Given the description of an element on the screen output the (x, y) to click on. 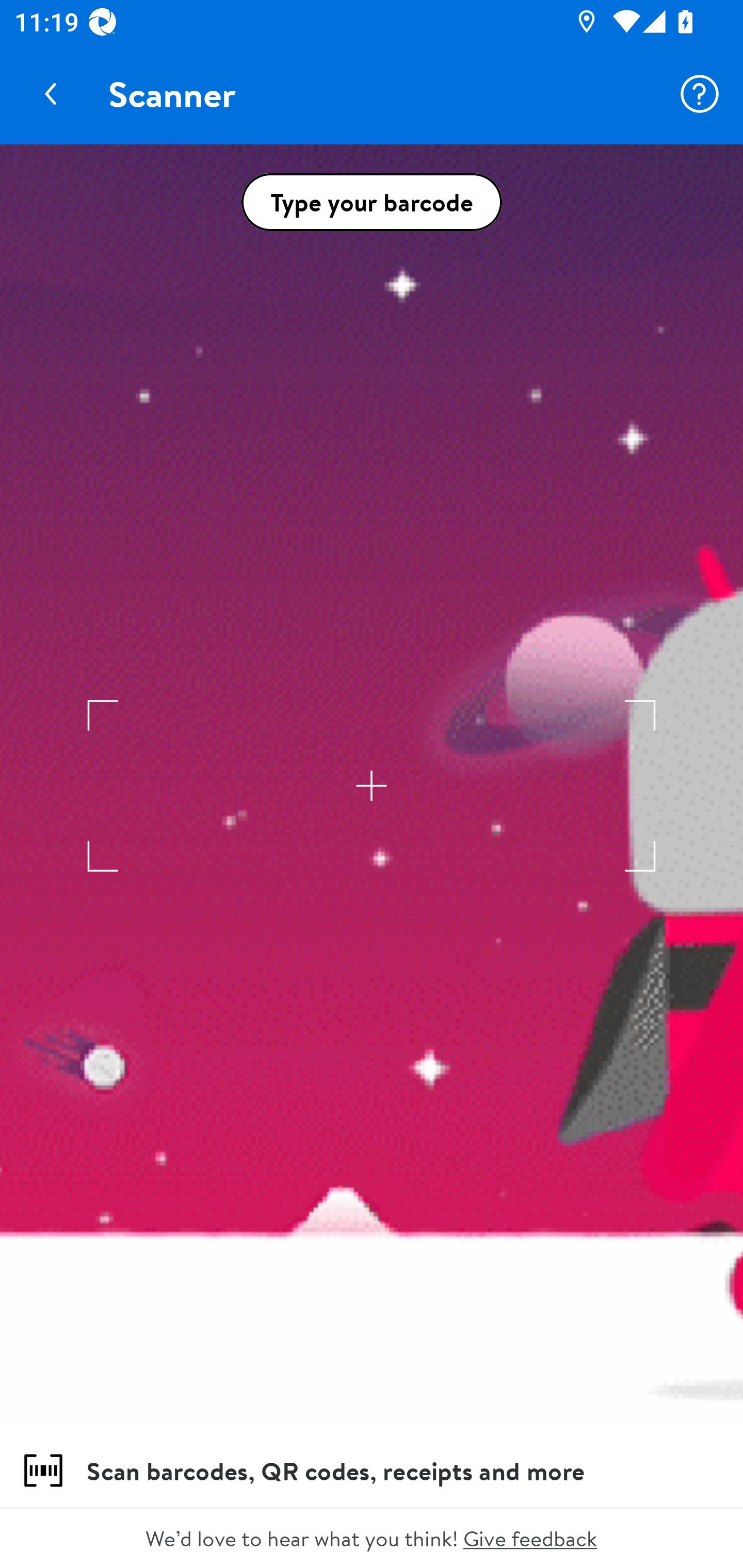
Navigate up (50, 93)
Help (699, 93)
Type your barcode (371, 202)
We’d love to hear what you think! Give feedback (371, 1538)
